Given the description of an element on the screen output the (x, y) to click on. 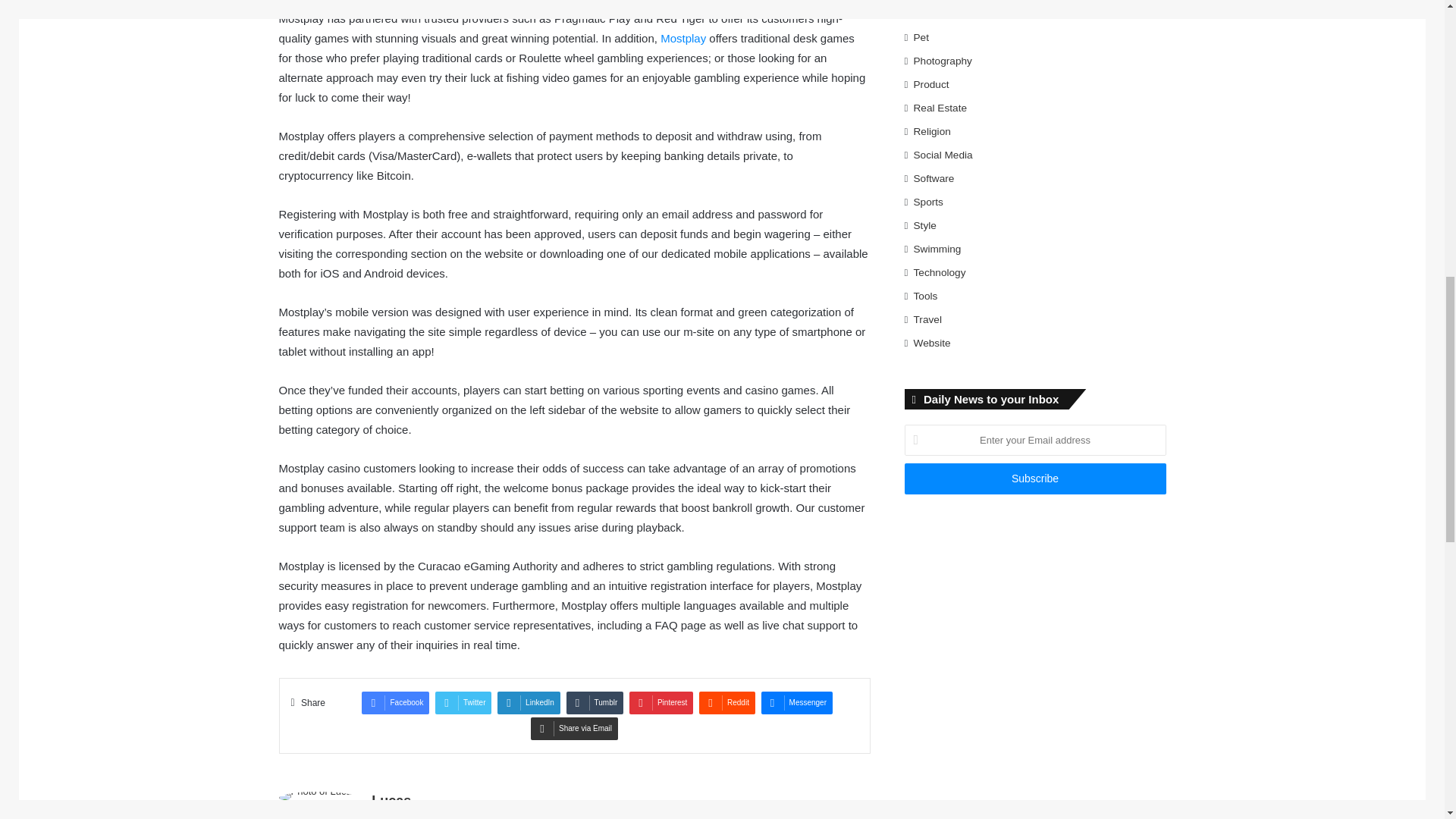
Subscribe (1035, 478)
Facebook (395, 702)
Mostplay (683, 38)
Twitter (463, 702)
LinkedIn (528, 702)
Tumblr (595, 702)
